Given the description of an element on the screen output the (x, y) to click on. 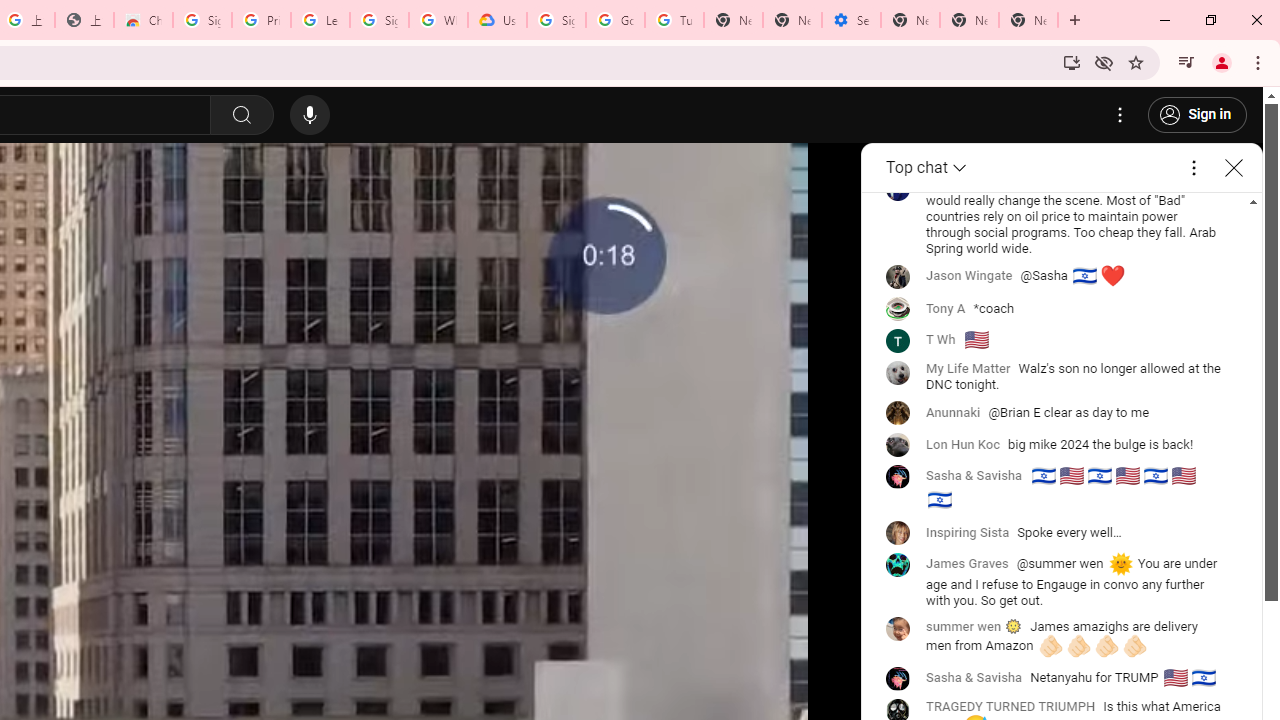
New Tab (1028, 20)
More options (1193, 167)
Turn cookies on or off - Computer - Google Account Help (674, 20)
Who are Google's partners? - Privacy and conditions - Google (438, 20)
Settings - Addresses and more (850, 20)
New Tab (909, 20)
Search with your voice (309, 115)
